Given the description of an element on the screen output the (x, y) to click on. 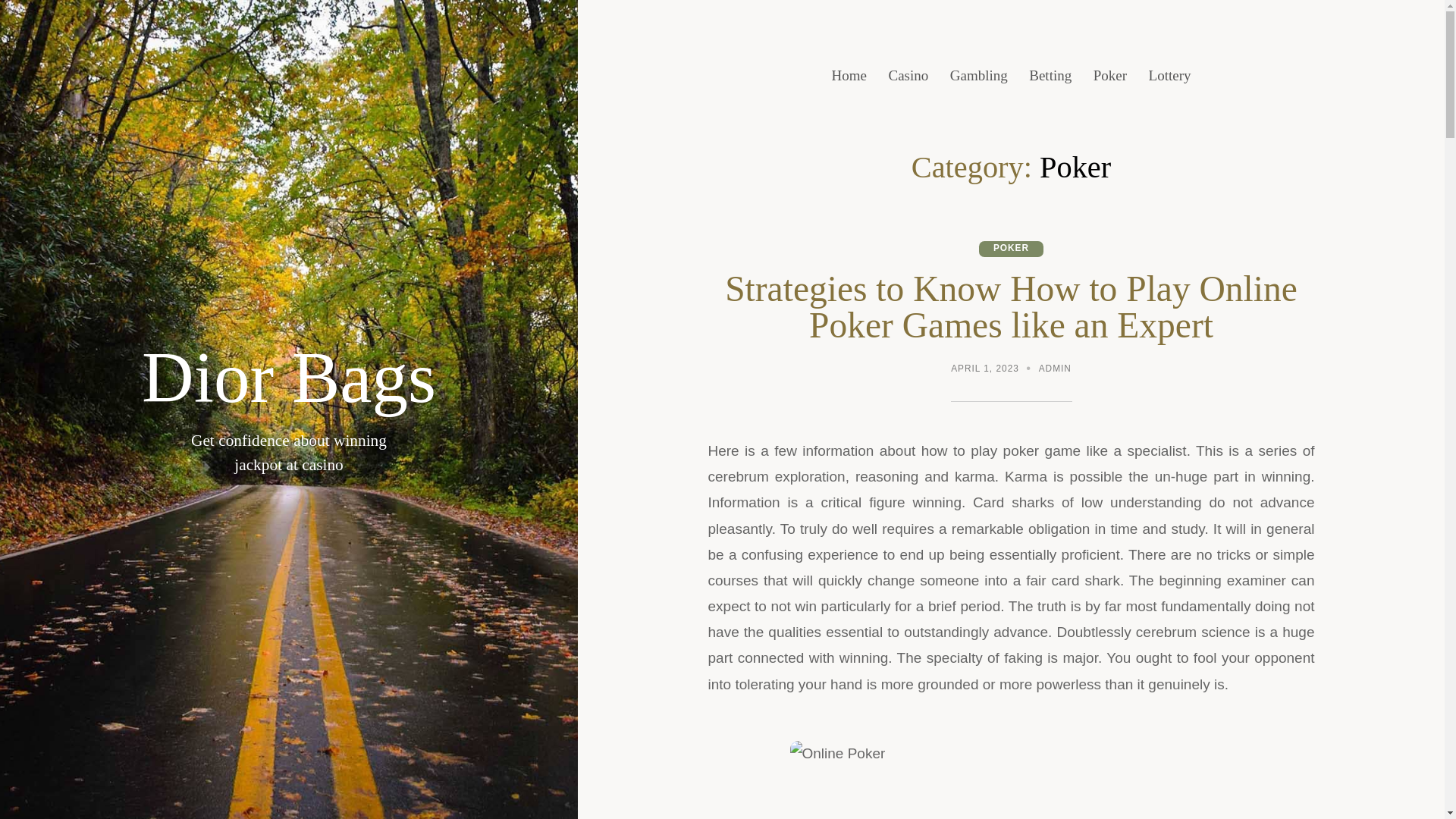
Poker (1109, 76)
APRIL 1, 2023 (984, 370)
ADMIN (1055, 370)
Casino (908, 76)
Dior Bags (289, 378)
Gambling (978, 76)
Home (848, 76)
Betting (1050, 76)
Lottery (1169, 76)
POKER (1010, 248)
